Given the description of an element on the screen output the (x, y) to click on. 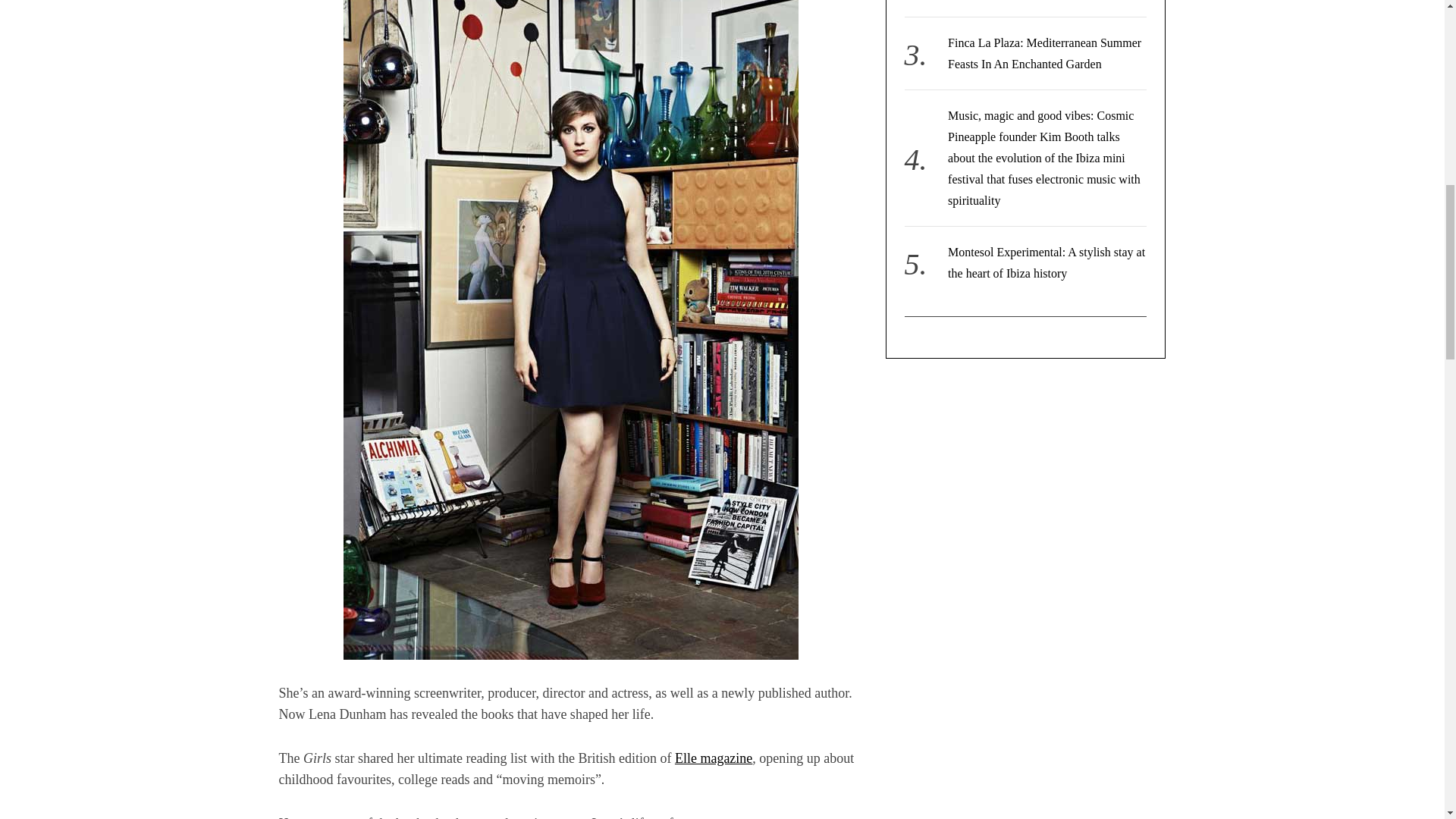
Elle magazine (713, 758)
